Given the description of an element on the screen output the (x, y) to click on. 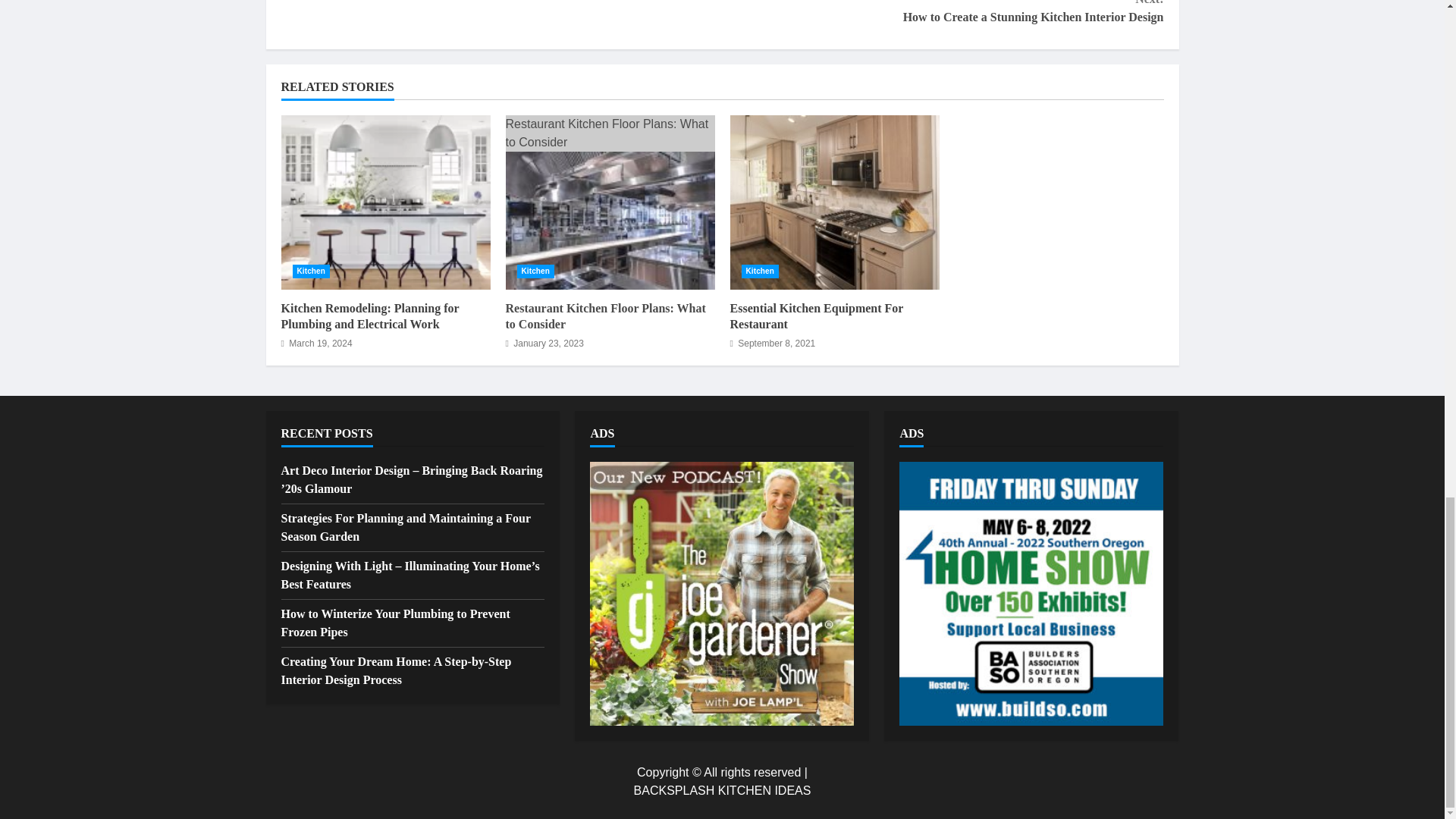
Kitchen (311, 271)
Kitchen (759, 271)
Essential Kitchen Equipment For Restaurant (834, 202)
BACKSPLASH KITCHEN IDEAS (721, 789)
Essential Kitchen Equipment For Restaurant (815, 316)
Strategies For Planning and Maintaining a Four Season Garden (405, 526)
